Given the description of an element on the screen output the (x, y) to click on. 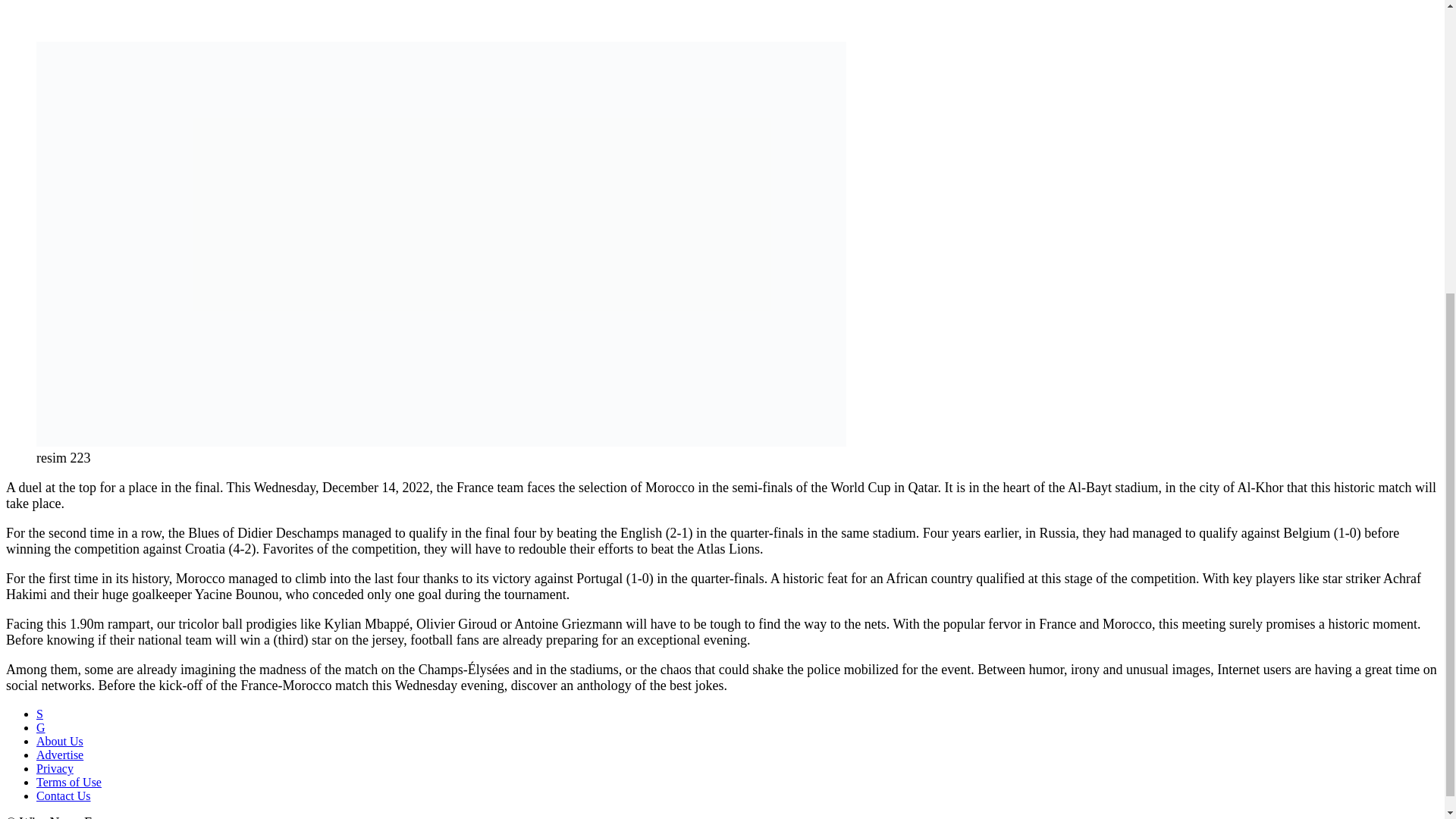
Advertise (59, 754)
About Us (59, 740)
S (39, 713)
G (40, 727)
Privacy (55, 768)
Terms of Use (68, 781)
Contact Us (63, 795)
